Given the description of an element on the screen output the (x, y) to click on. 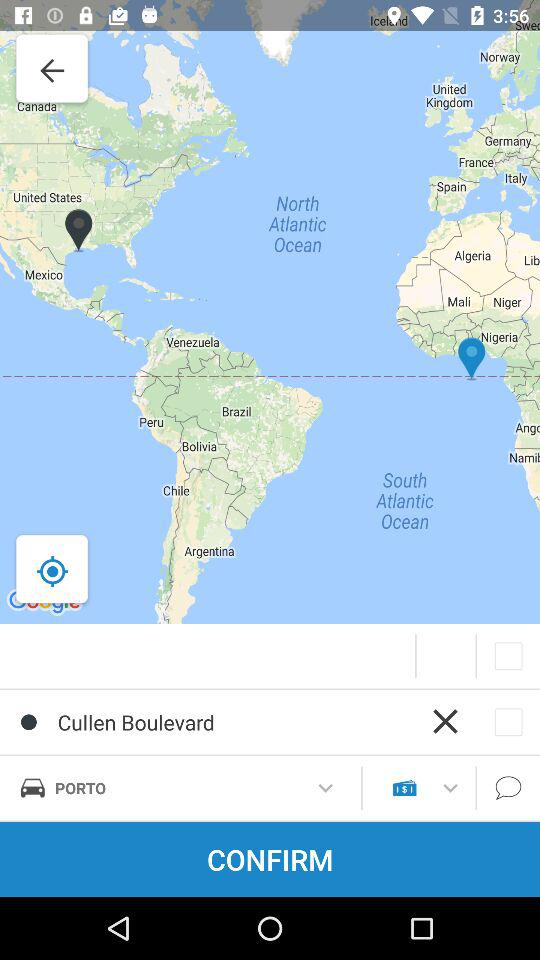
click the box mark at the bottom which right to right of cullen boulevard (508, 722)
click on the icon beside porto above confirm (404, 787)
click the cross sign right to cullen boulevard (445, 721)
select the icon which is left side of the porto (32, 787)
click on the button which is below the map (508, 656)
select the button which is next to the porto (325, 787)
